Given the description of an element on the screen output the (x, y) to click on. 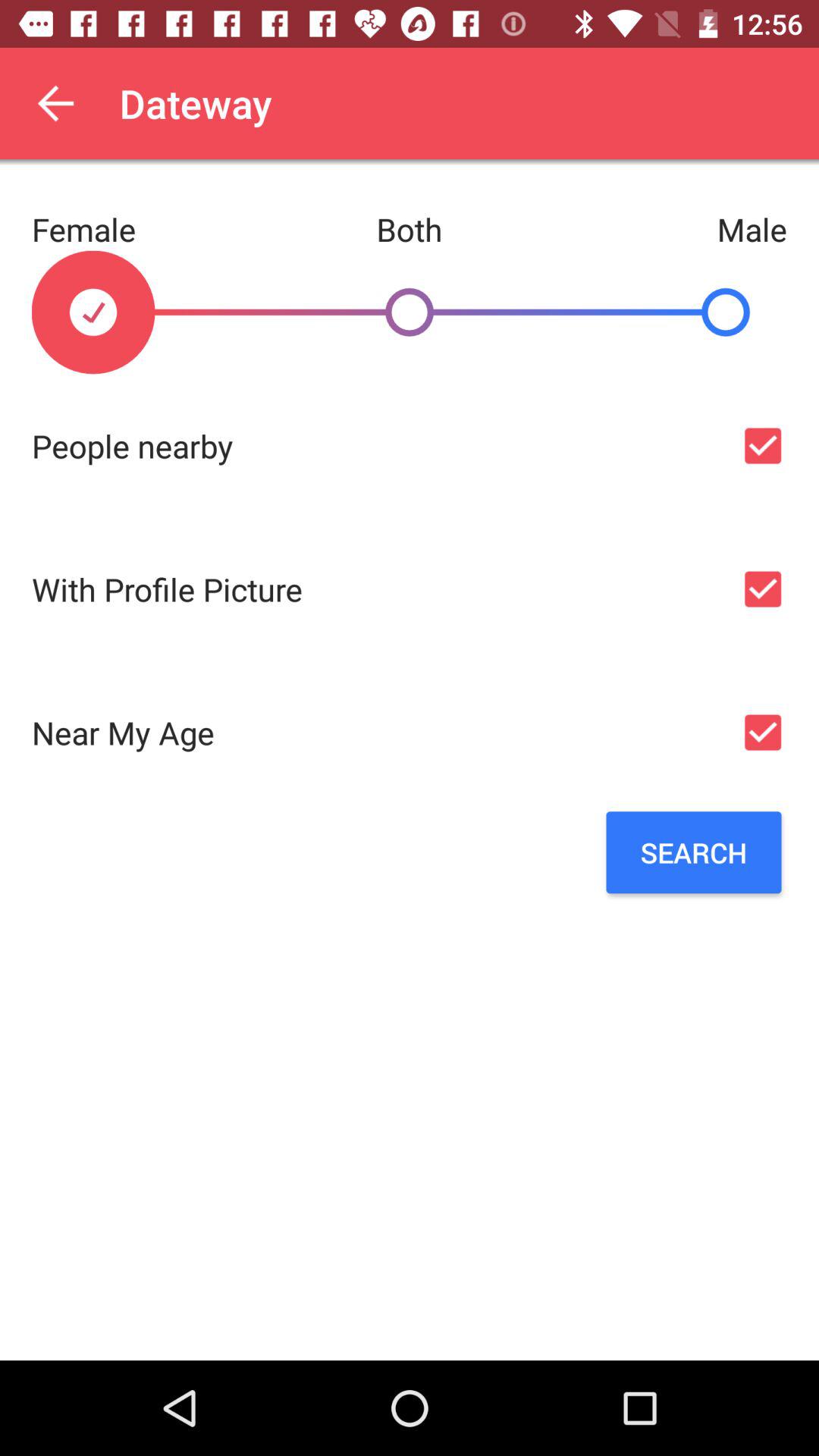
flip to the search icon (693, 852)
